Given the description of an element on the screen output the (x, y) to click on. 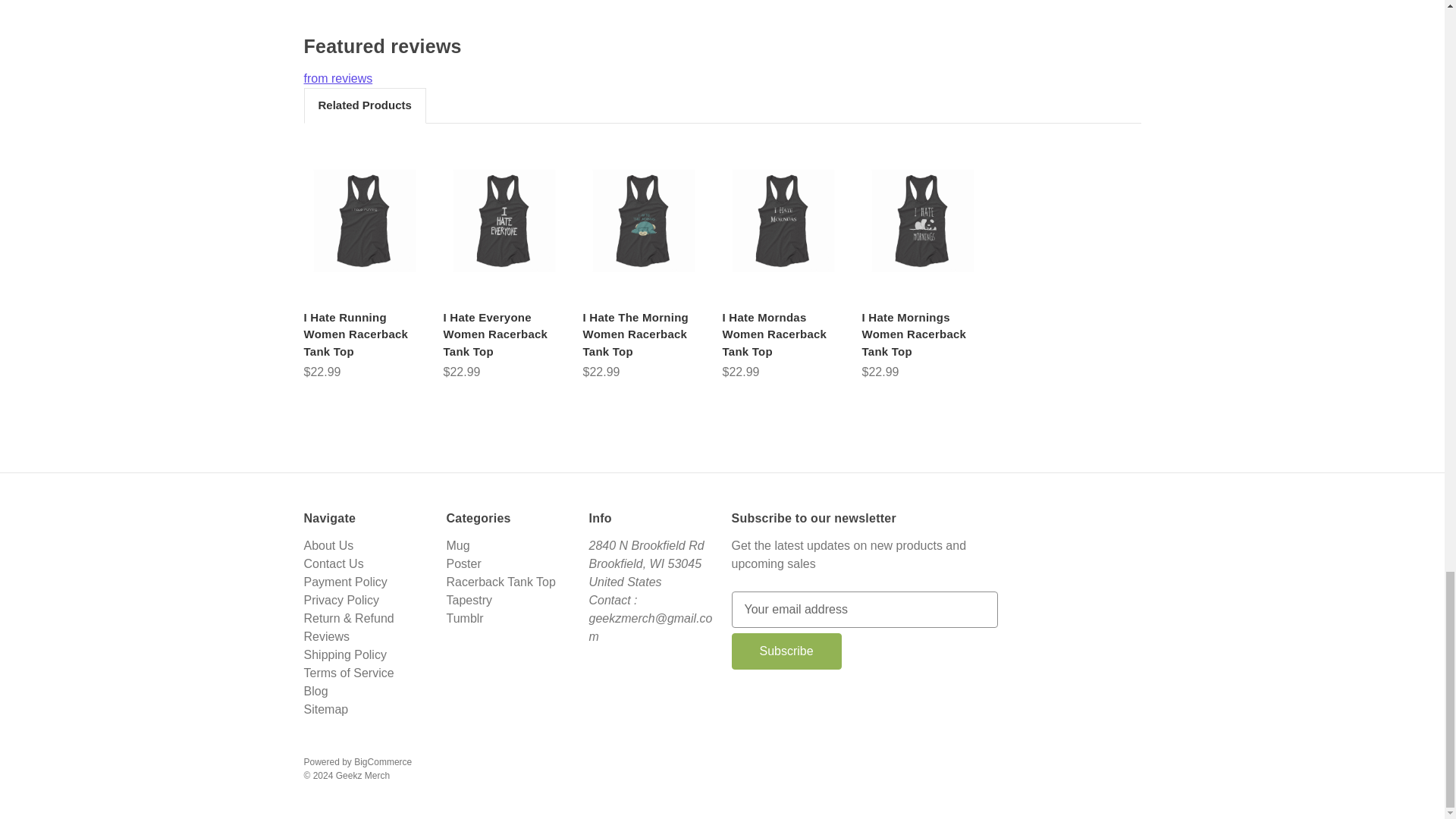
I Hate Morndas Women Racerback Tank Top (783, 220)
Subscribe (785, 651)
I Hate Mornings Women Racerback Tank Top (922, 220)
I Hate Running Women Racerback Tank Top (364, 220)
I Hate Everyone Women Racerback Tank Top (503, 220)
Related Products (364, 105)
from reviews (721, 79)
I Hate The Morning Women Racerback Tank Top (643, 220)
I Hate Running Women Racerback Tank Top (363, 335)
I Hate Everyone Women Racerback Tank Top (503, 335)
